Given the description of an element on the screen output the (x, y) to click on. 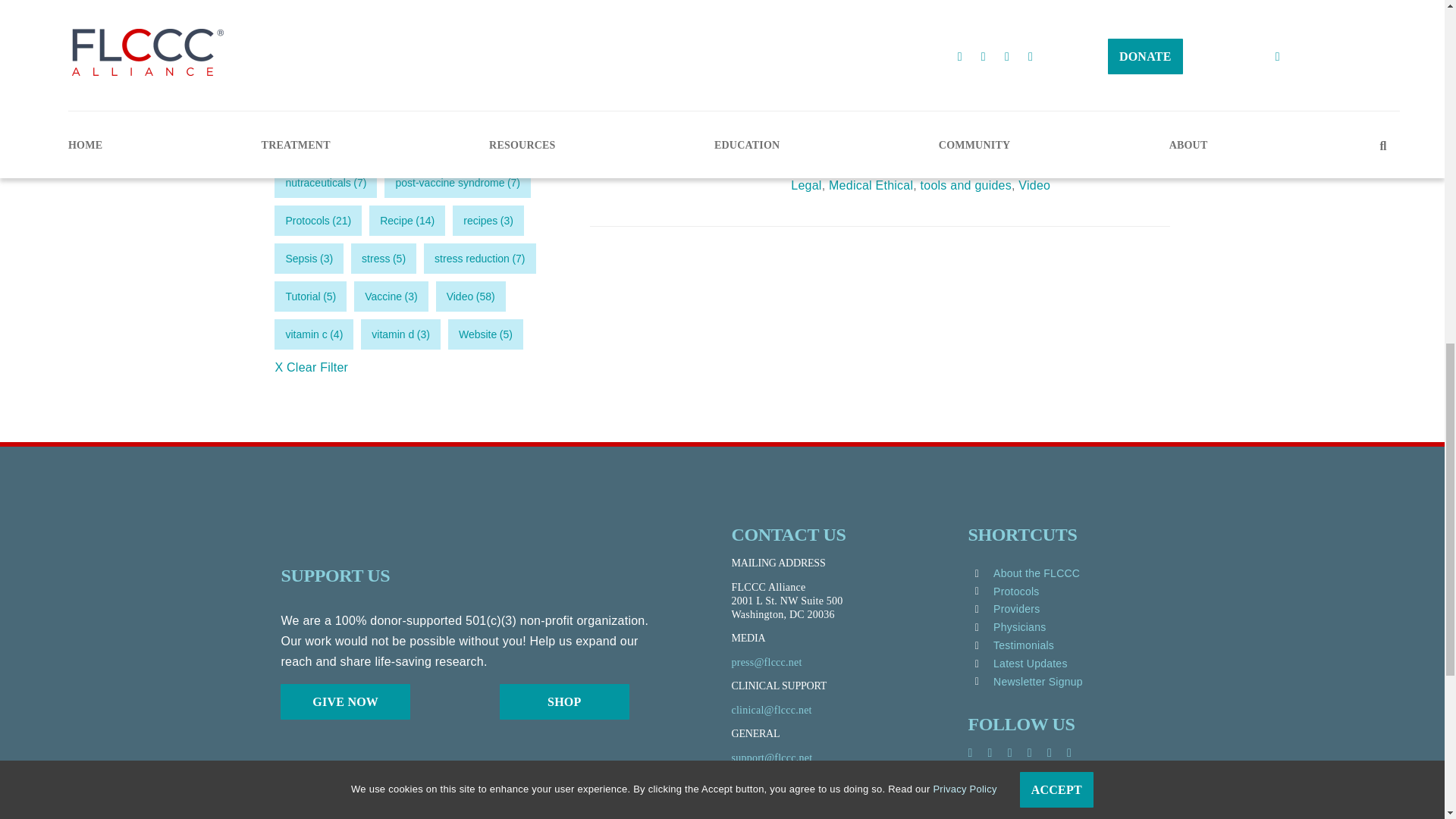
hospital guide (968, 164)
Infographic (1045, 164)
Anesthesia Guide (873, 164)
